Given the description of an element on the screen output the (x, y) to click on. 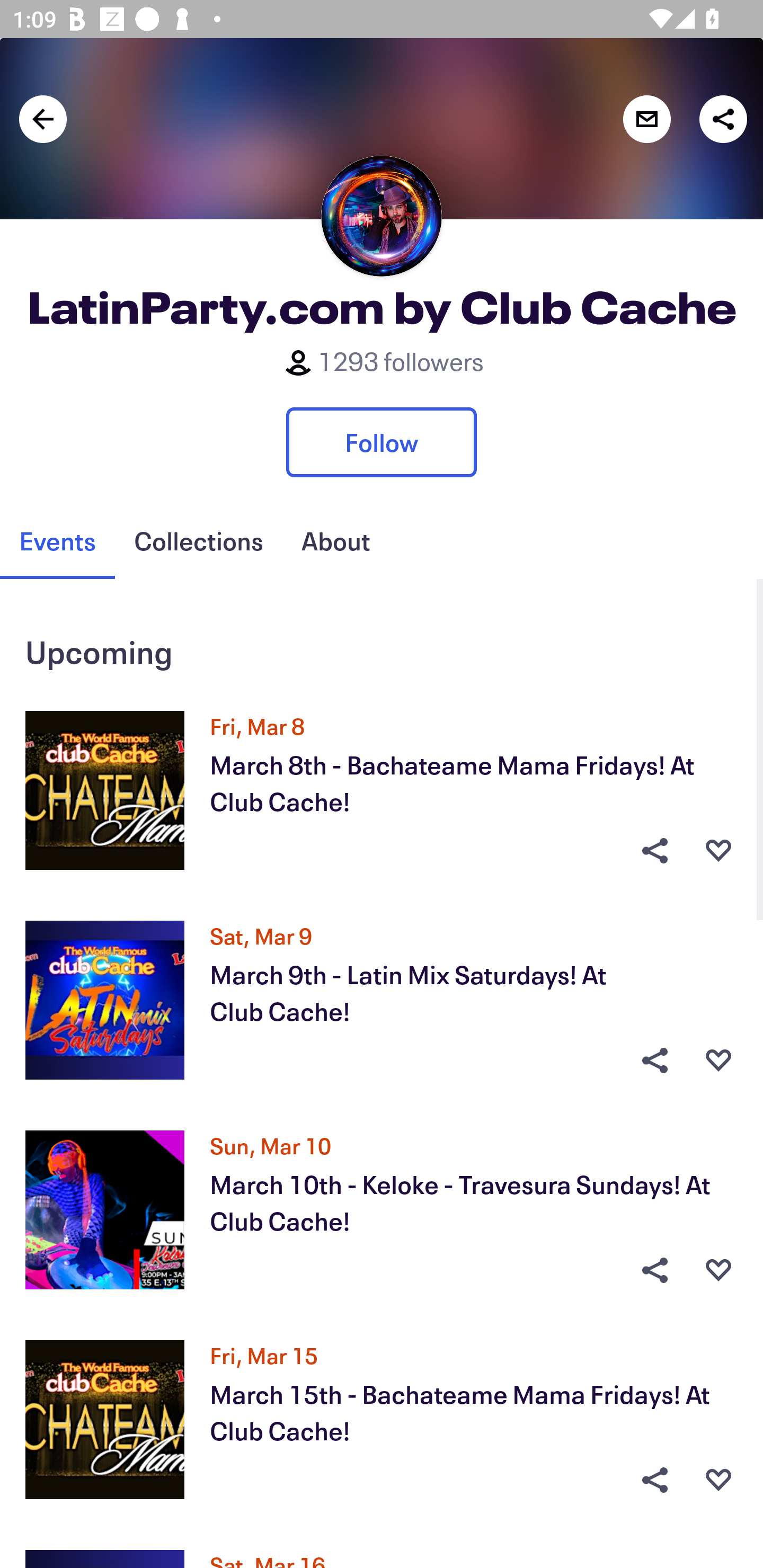
Back navigation arrow (43, 118)
Contact organizer (646, 118)
Share with friends (722, 118)
Follow (381, 441)
Collections (198, 540)
About (335, 540)
Share Event (654, 850)
Like event (718, 850)
Share Event (654, 1060)
Like event (718, 1060)
Share Event (654, 1269)
Like event (718, 1269)
Share Event (654, 1480)
Like event (718, 1480)
